Given the description of an element on the screen output the (x, y) to click on. 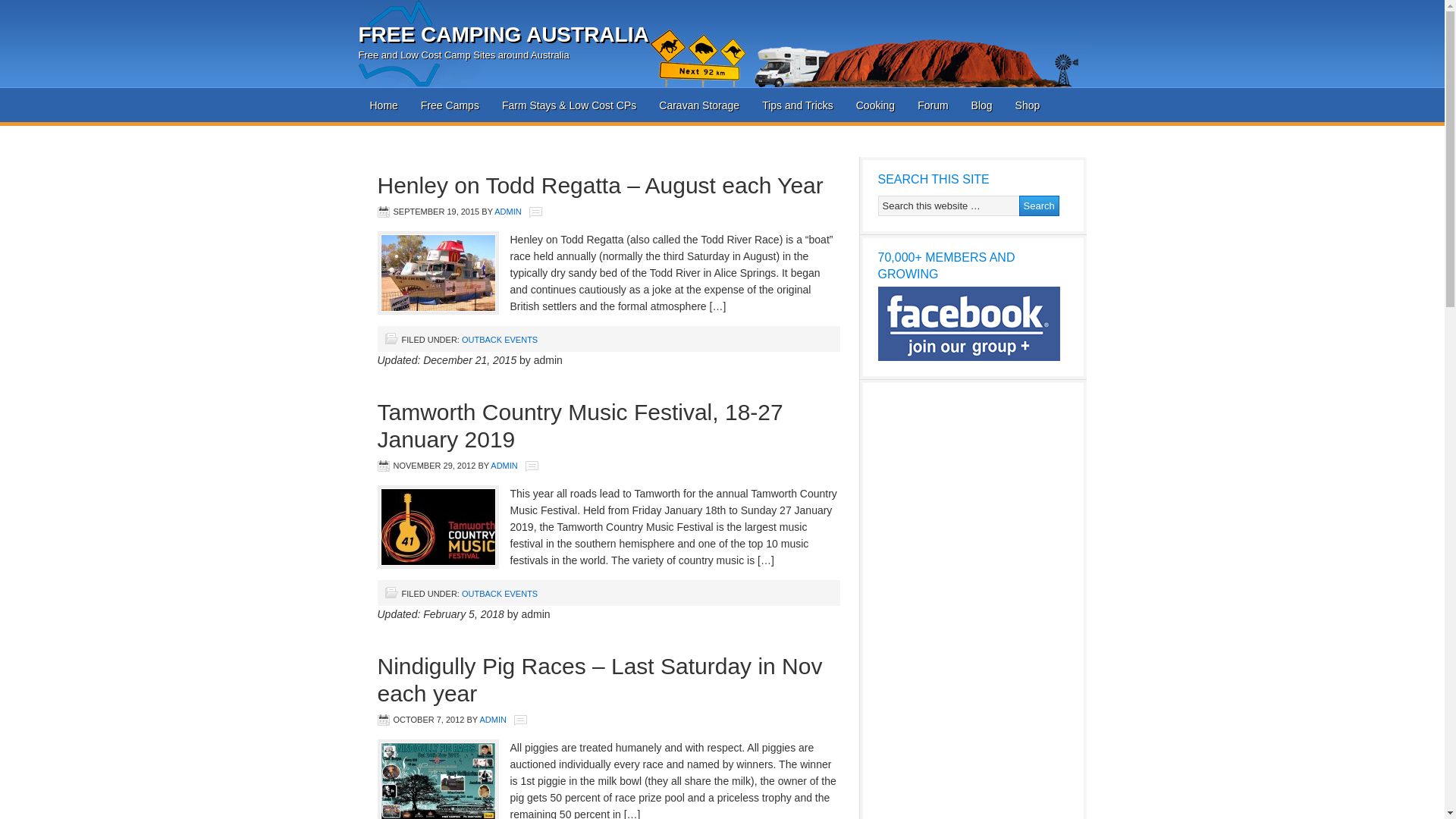
OUTBACK EVENTS Element type: text (499, 339)
Blog Element type: text (982, 104)
ADMIN Element type: text (507, 211)
Advertisement Element type: hover (636, 148)
ADMIN Element type: text (492, 719)
OUTBACK EVENTS Element type: text (499, 593)
FREE CAMPING AUSTRALIA Element type: text (502, 34)
Search Element type: text (1039, 205)
ADMIN Element type: text (503, 465)
Shop Element type: text (1027, 104)
Home Element type: text (382, 104)
Forum Element type: text (932, 104)
Tamworth Country Music Festival, 18-27 January 2019 Element type: text (580, 425)
